Given the description of an element on the screen output the (x, y) to click on. 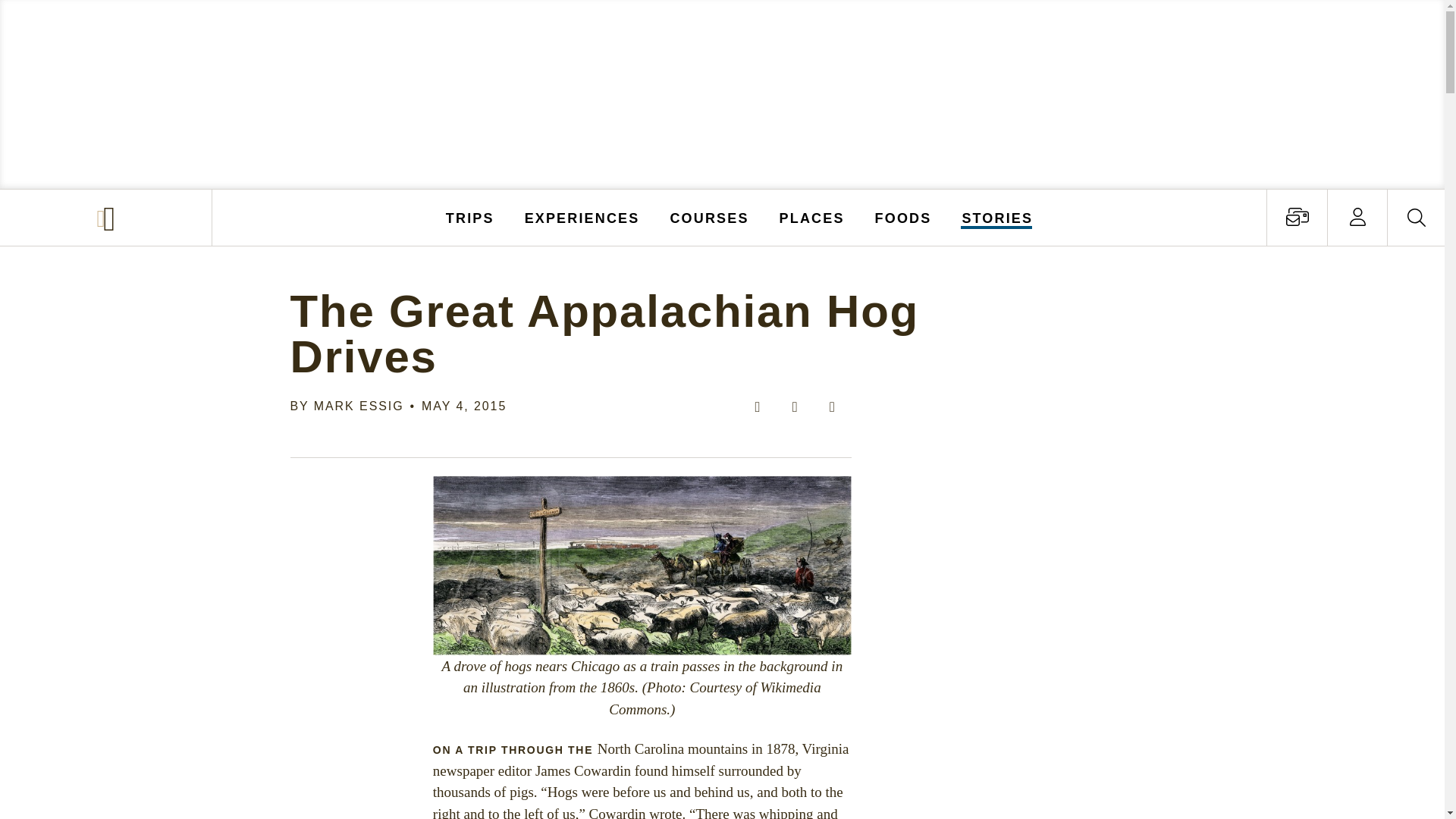
PLACES (812, 217)
COURSES (707, 217)
TRIPS (469, 217)
EXPERIENCES (582, 217)
